Given the description of an element on the screen output the (x, y) to click on. 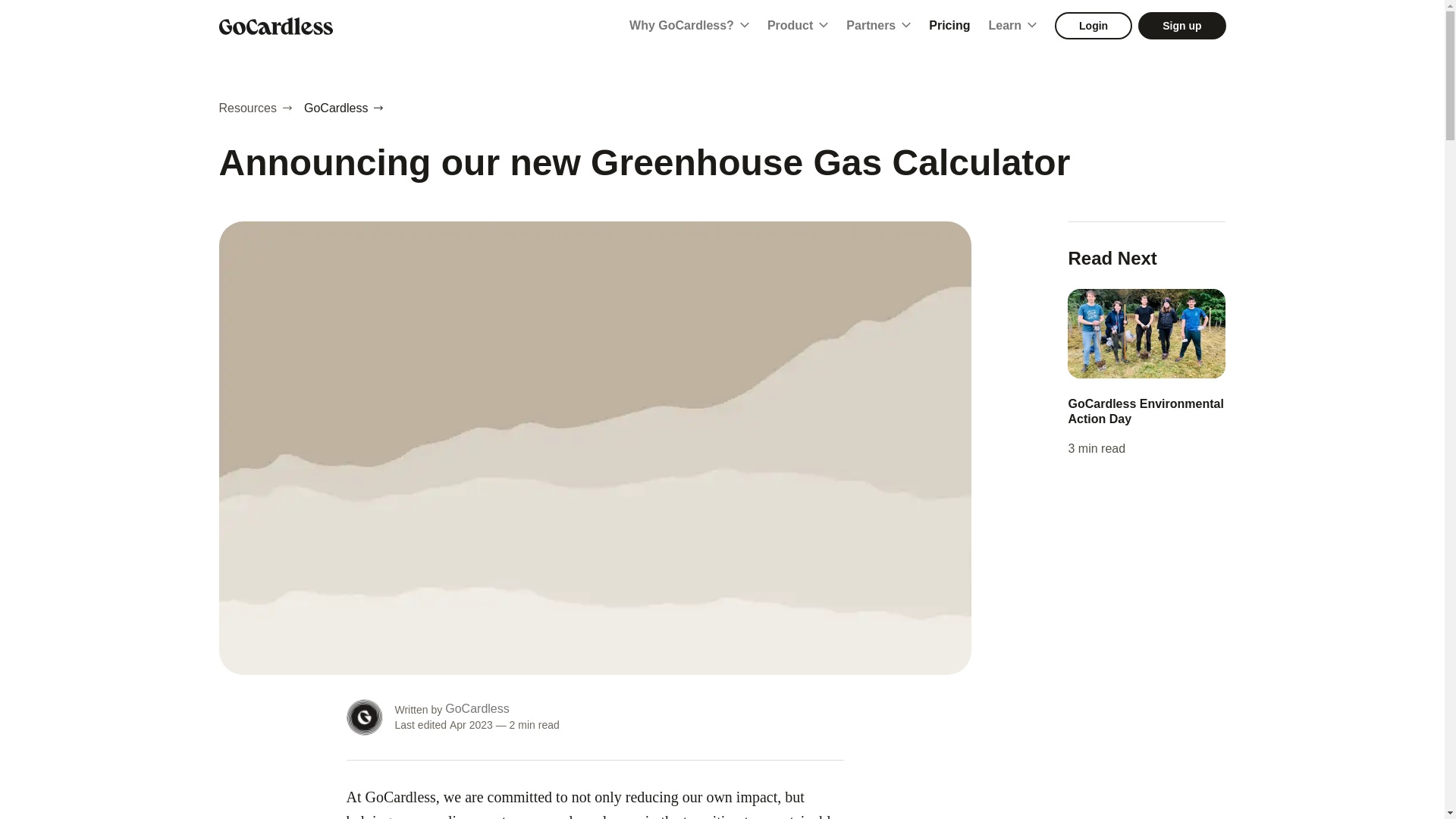
Why GoCardless? (688, 25)
Product (797, 25)
